Given the description of an element on the screen output the (x, y) to click on. 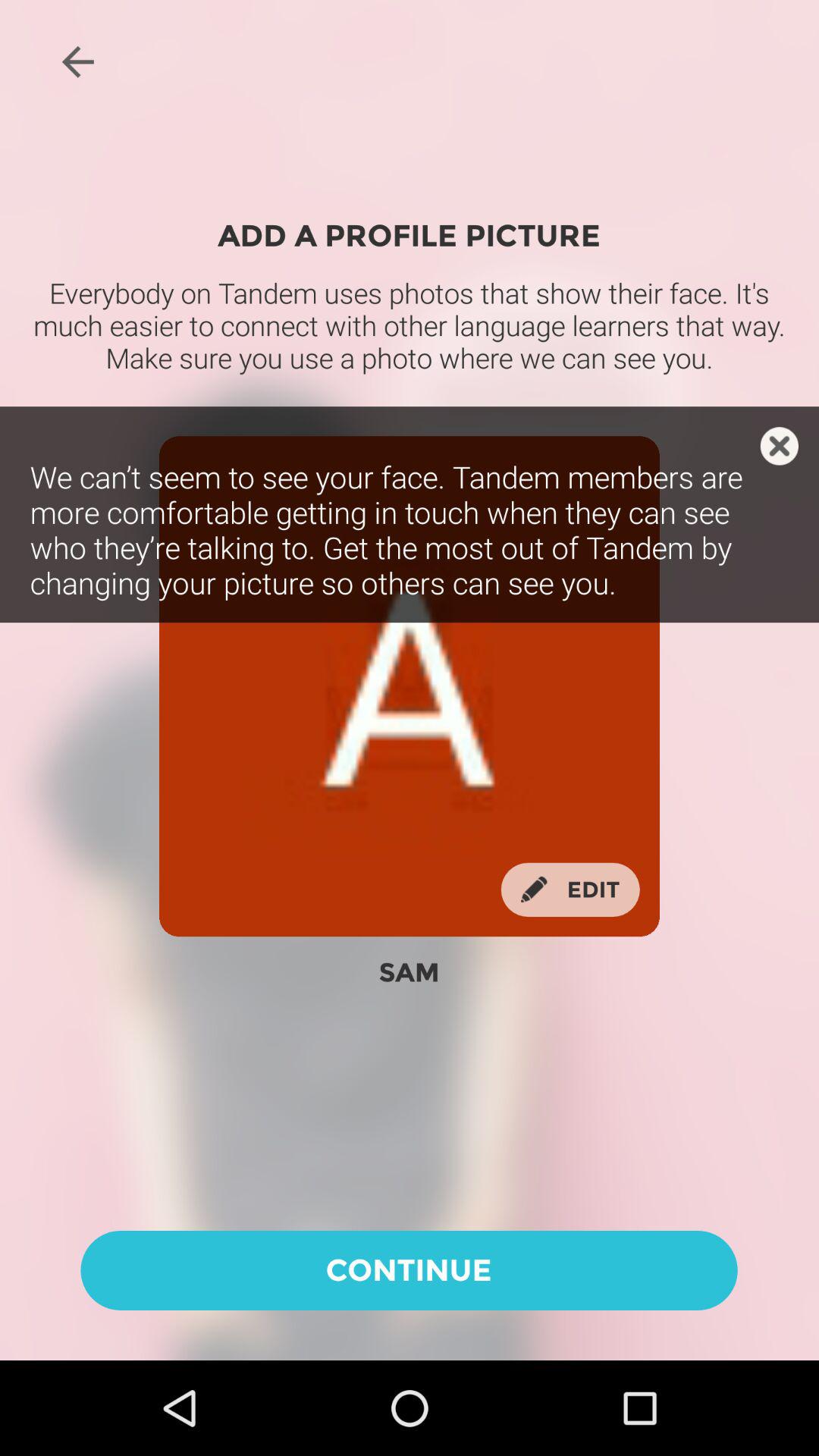
go back button (77, 61)
